Given the description of an element on the screen output the (x, y) to click on. 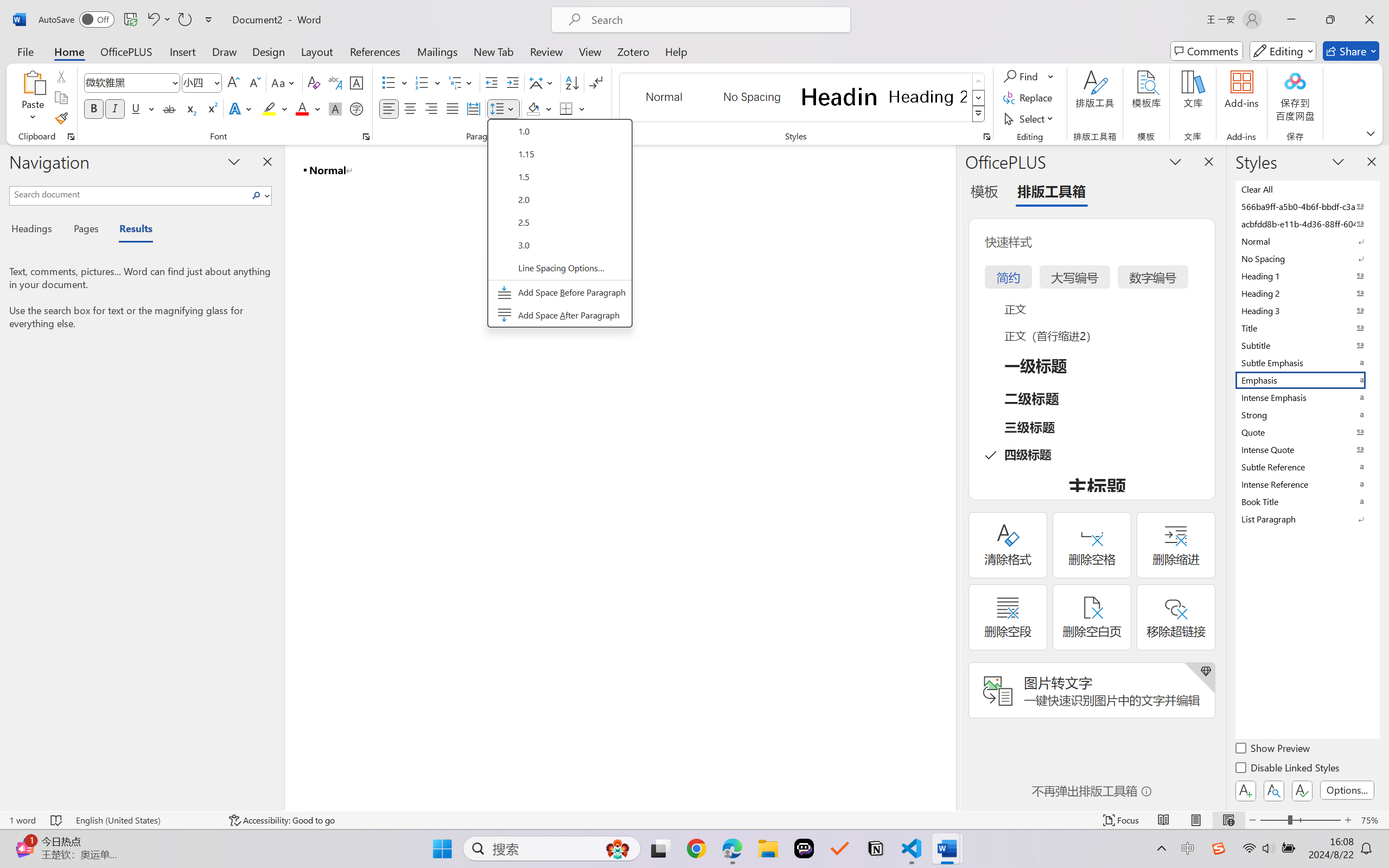
Intense Emphasis (1306, 397)
Borders (566, 108)
Search (256, 195)
Draw (224, 51)
Subtle Reference (1306, 466)
Insert (182, 51)
Text Effects and Typography (241, 108)
Enclose Characters... (356, 108)
